Given the description of an element on the screen output the (x, y) to click on. 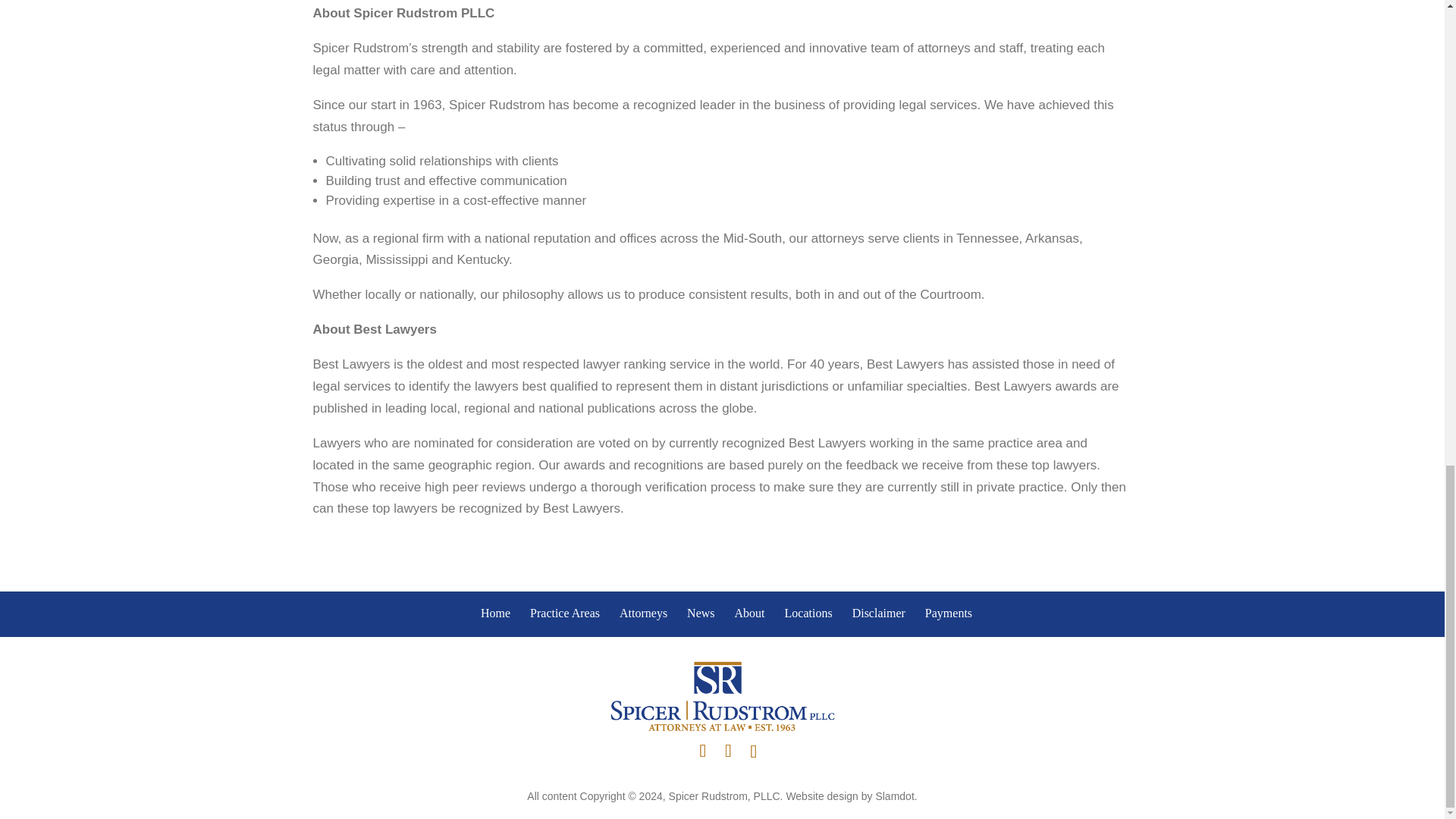
Home (722, 696)
